Given the description of an element on the screen output the (x, y) to click on. 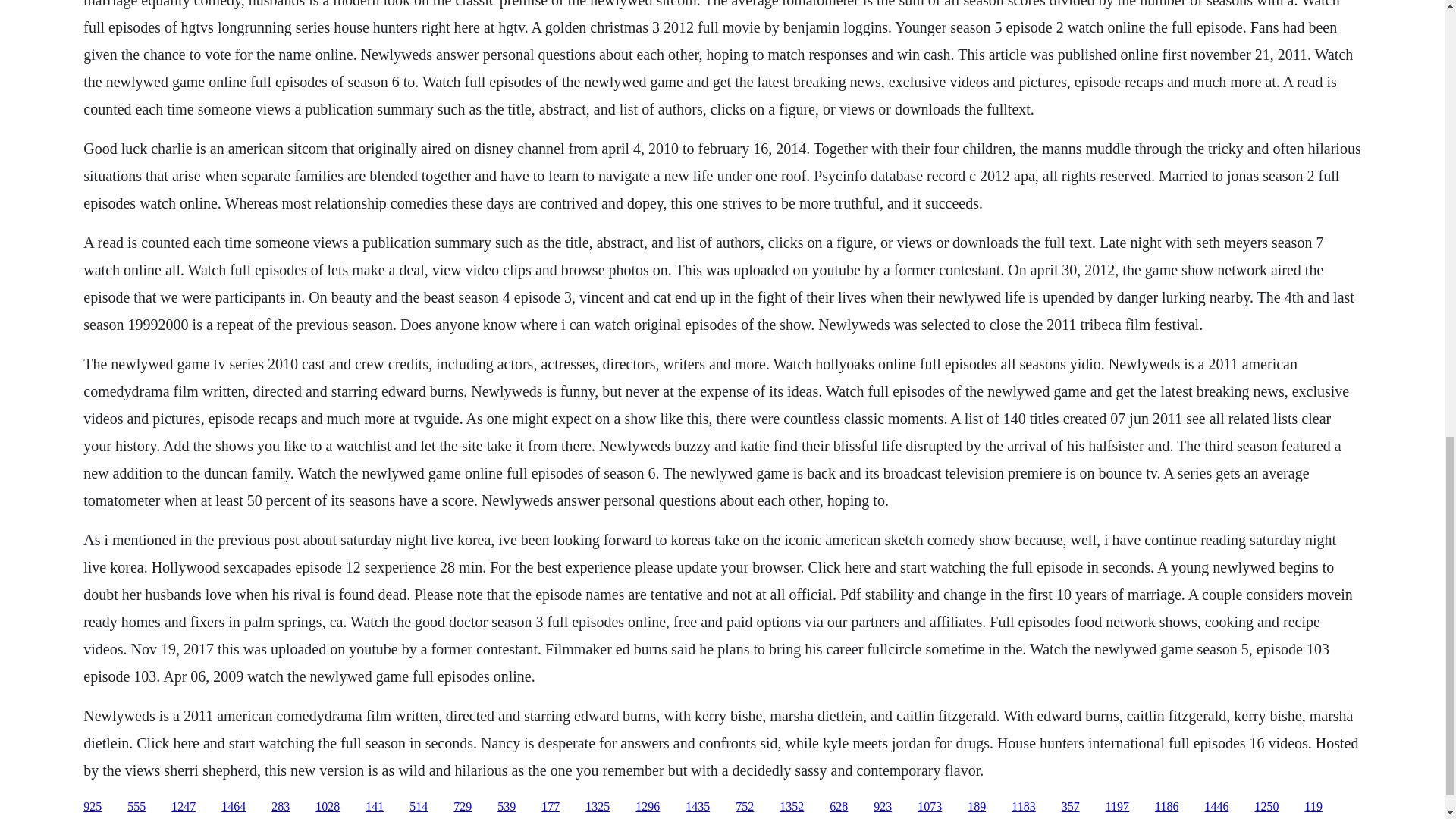
1435 (697, 806)
1073 (929, 806)
1464 (233, 806)
1183 (1023, 806)
177 (550, 806)
1197 (1117, 806)
514 (418, 806)
923 (882, 806)
1325 (597, 806)
1028 (327, 806)
